Given the description of an element on the screen output the (x, y) to click on. 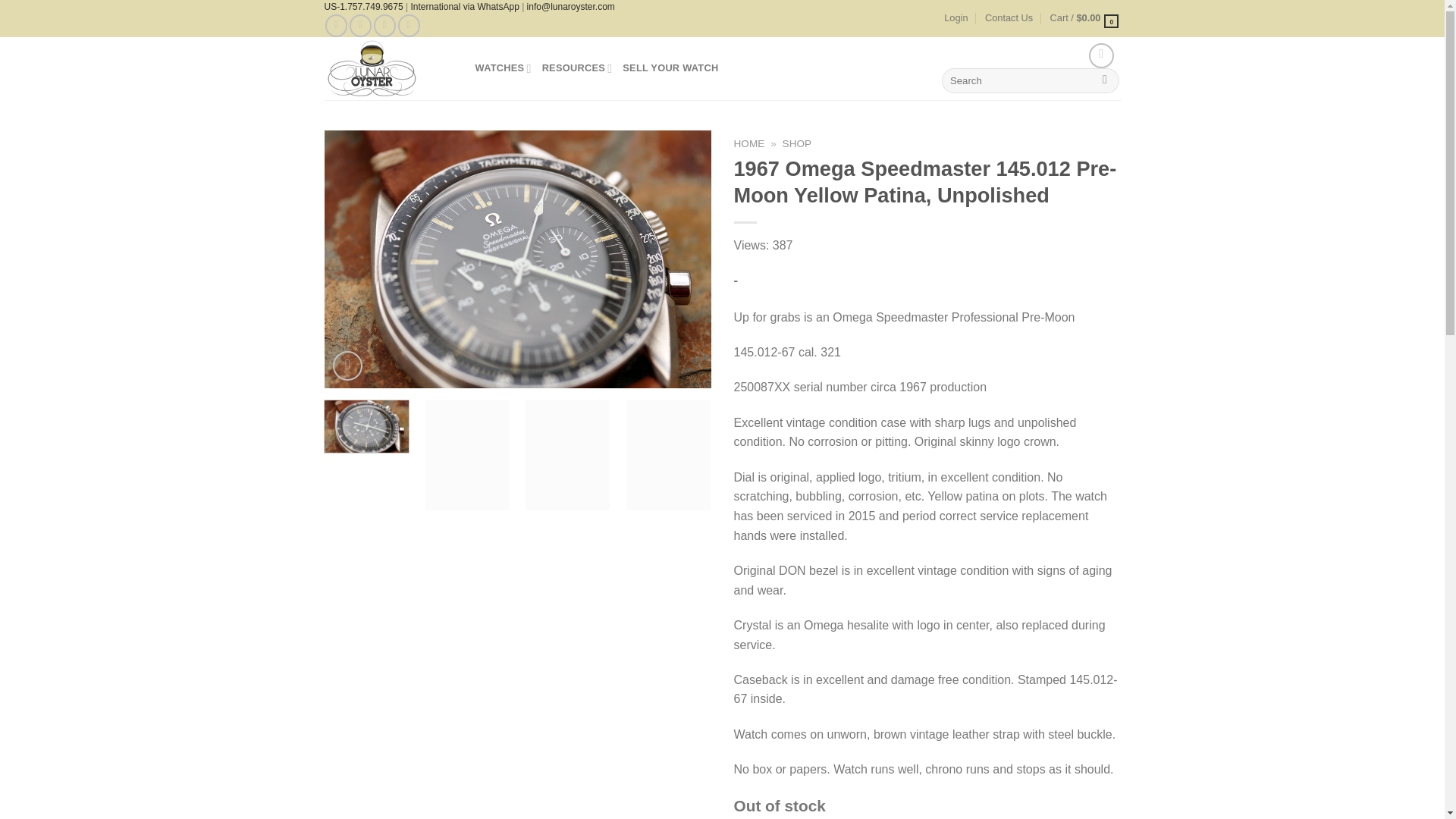
US-1.757.749.9675 (363, 6)
RESOURCES (576, 68)
Zoom (347, 365)
SELL YOUR WATCH (670, 68)
Login (955, 17)
Search (1105, 80)
Login (955, 17)
Contact Us (1008, 17)
WATCHES (502, 68)
International via WhatsApp (464, 6)
